Given the description of an element on the screen output the (x, y) to click on. 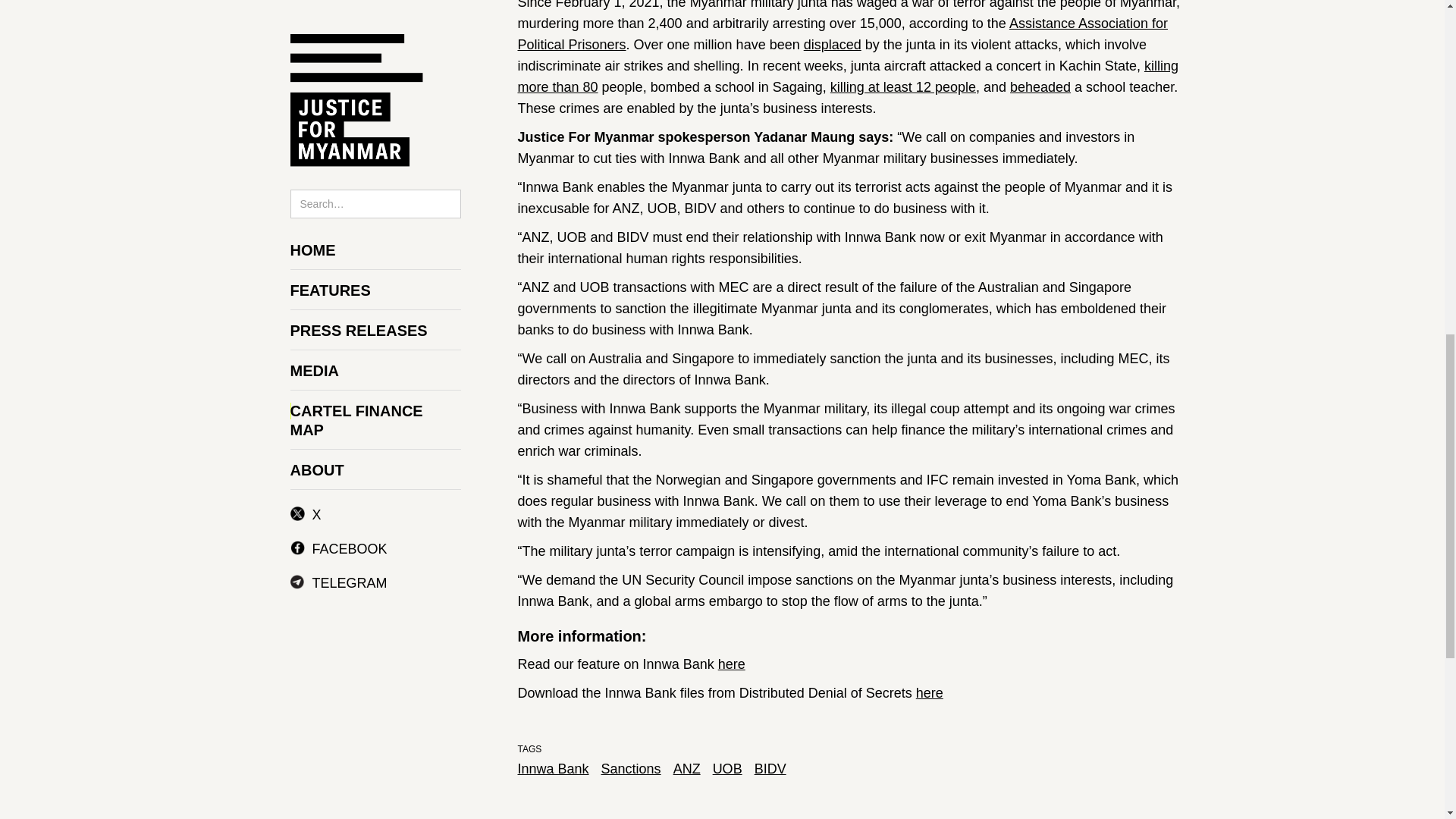
Assistance Association for Political Prisoners (841, 33)
killing at least 12 people, (904, 87)
Innwa Bank (552, 768)
here (731, 663)
BIDV (770, 768)
here (929, 693)
ANZ (686, 768)
UOB (727, 768)
beheaded (1040, 87)
killing more than 80 (846, 76)
displaced (832, 44)
Sanctions (631, 768)
